Given the description of an element on the screen output the (x, y) to click on. 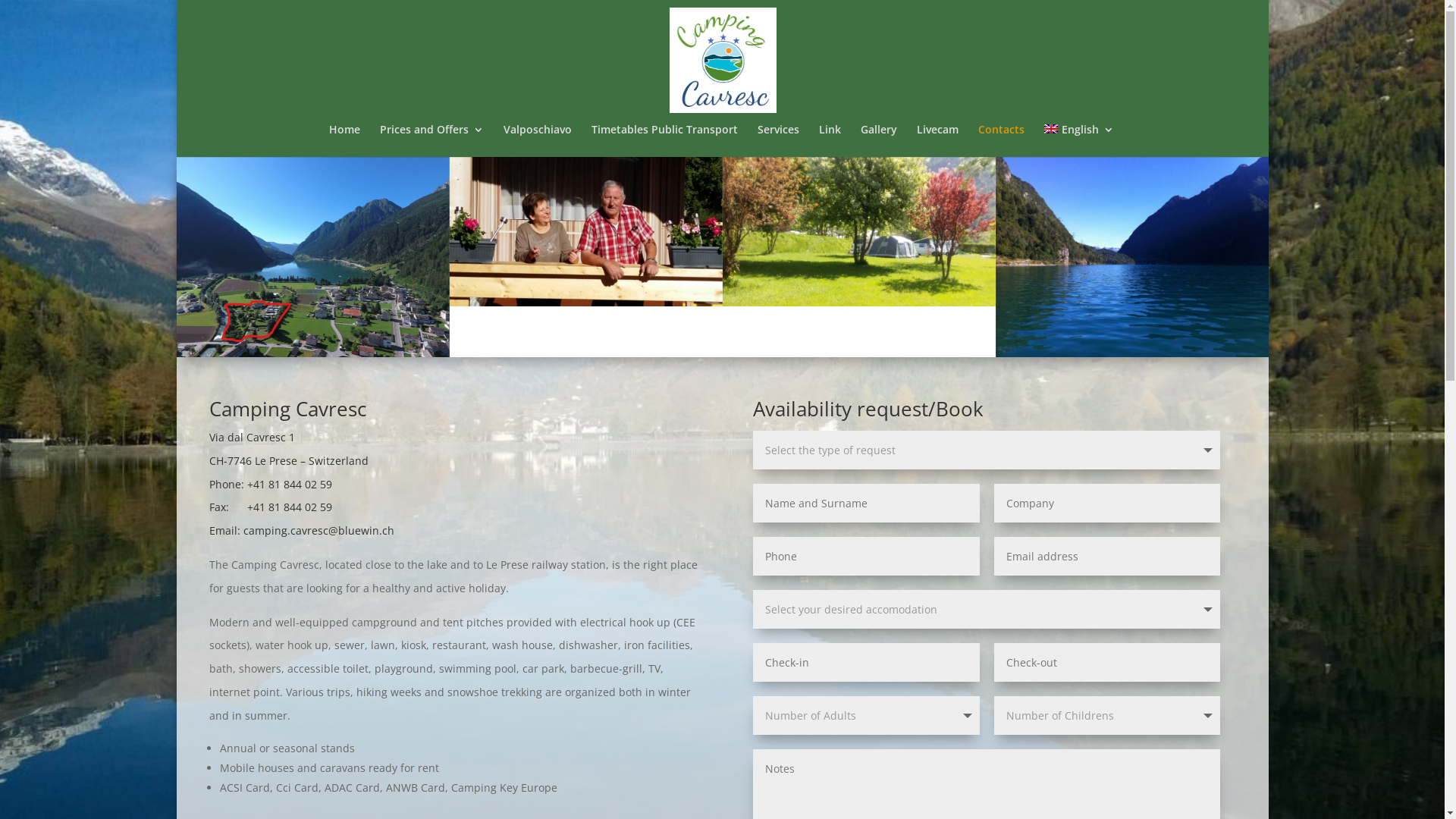
Livecam Element type: text (937, 140)
Home Element type: text (344, 140)
Valposchiavo Element type: text (537, 140)
Timetables Public Transport Element type: text (664, 140)
Contacts Element type: text (1001, 140)
English Element type: text (1078, 140)
Services Element type: text (778, 140)
Link Element type: text (829, 140)
Gallery Element type: text (878, 140)
Email: camping.cavresc@bluewin.ch Element type: text (301, 530)
Prices and Offers Element type: text (431, 140)
